Given the description of an element on the screen output the (x, y) to click on. 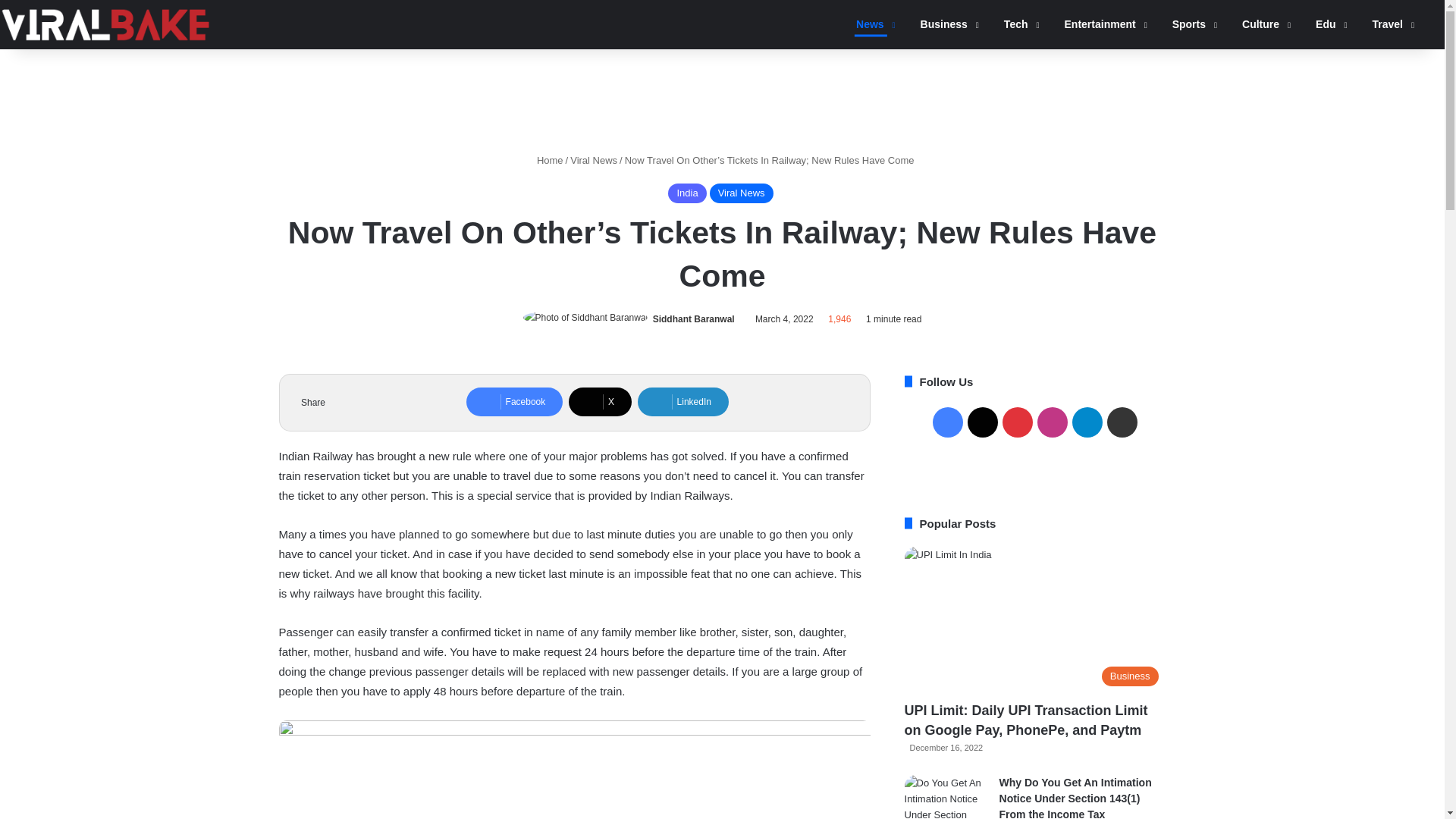
Siddhant Baranwal (693, 318)
Business (944, 24)
Travel (1388, 24)
Entertainment (1100, 24)
Viral Bake (104, 24)
Sports (1189, 24)
Edu (1326, 24)
Culture (1261, 24)
Tech (1016, 24)
X (600, 401)
